Given the description of an element on the screen output the (x, y) to click on. 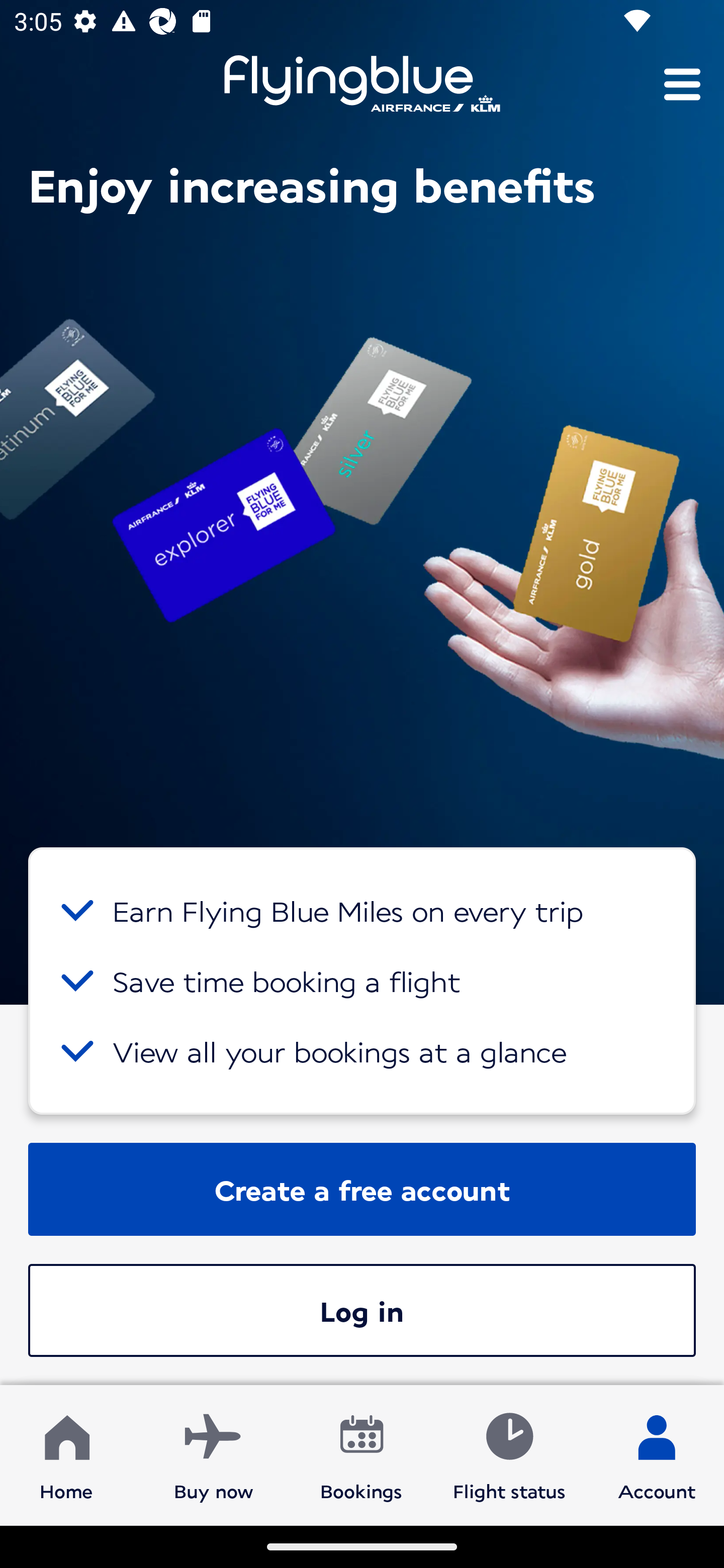
Create a free account (361, 1189)
Log in (361, 1309)
Home (66, 1454)
Buy now (213, 1454)
Bookings (361, 1454)
Flight status (509, 1454)
